Given the description of an element on the screen output the (x, y) to click on. 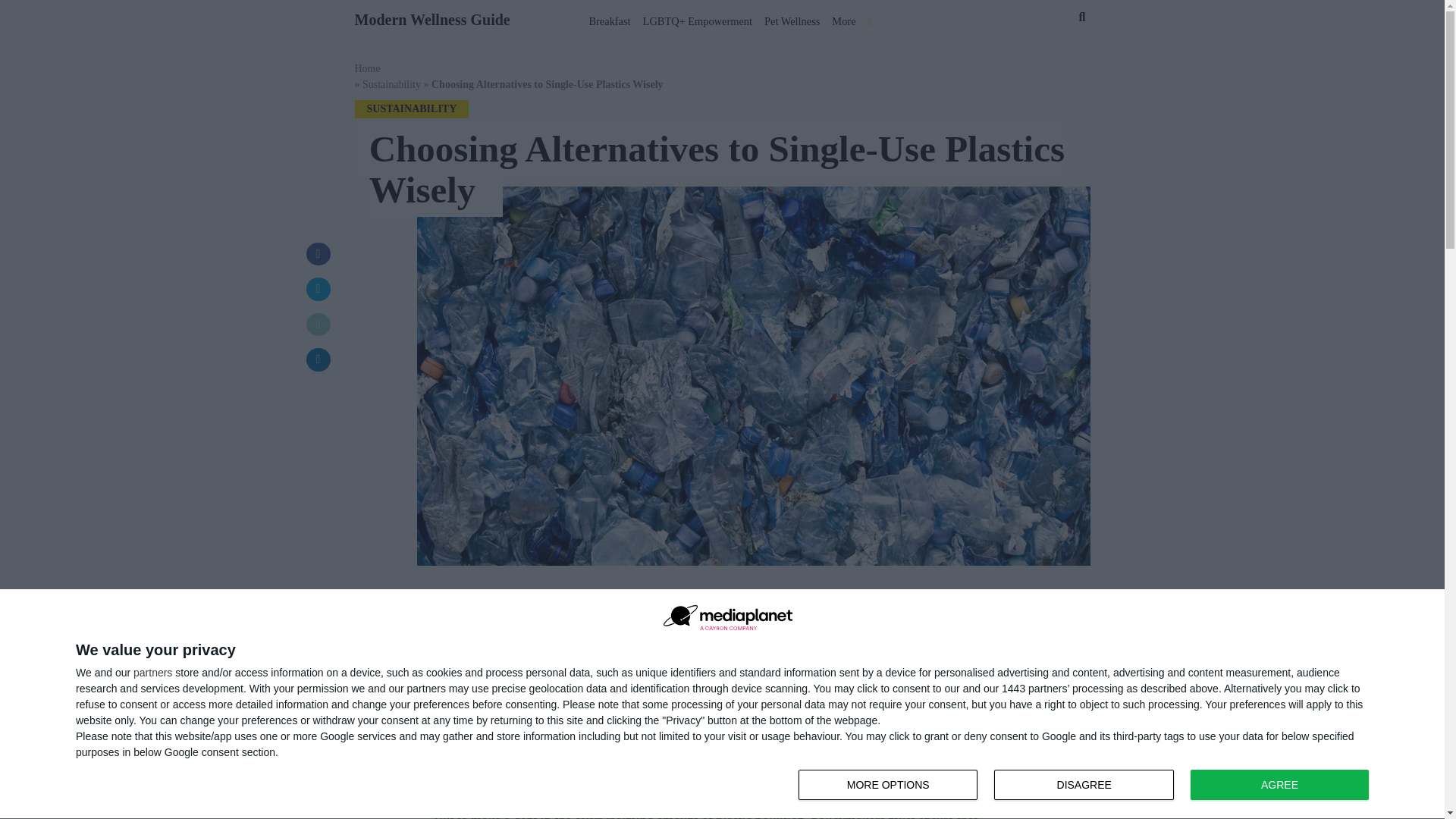
Pet Wellness (791, 18)
Breakfast (609, 18)
partners (152, 672)
More (843, 18)
Modern Wellness Guide (433, 17)
AGREE (1279, 784)
MORE OPTIONS (1086, 785)
DISAGREE (886, 784)
